Given the description of an element on the screen output the (x, y) to click on. 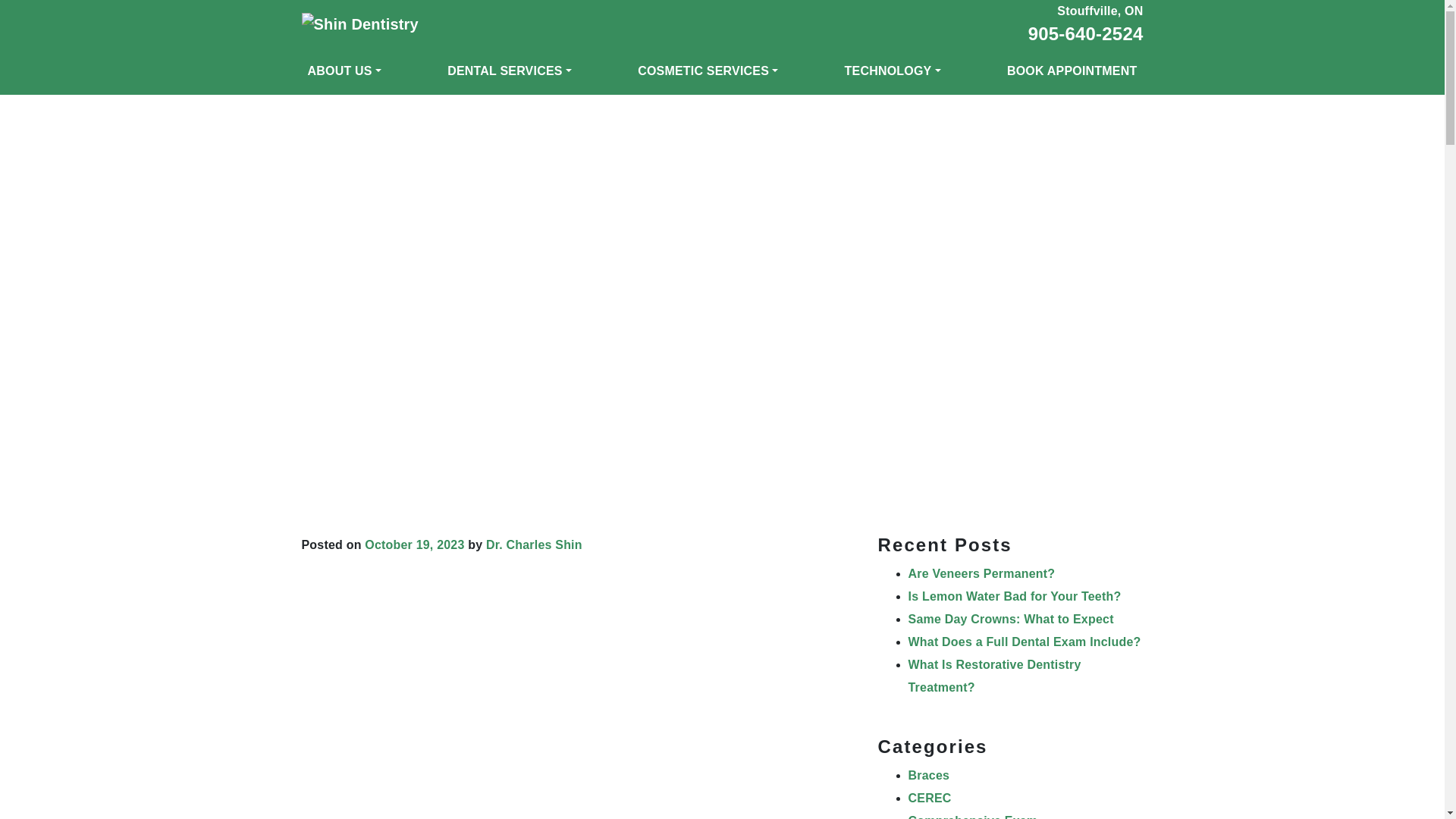
905-640-2524 (1084, 33)
Cosmetic Services (707, 71)
BOOK APPOINTMENT (1071, 71)
Dr. Charles Shin (534, 544)
ABOUT US (344, 71)
About Us (344, 71)
COSMETIC SERVICES (707, 71)
Dental Services (509, 71)
TECHNOLOGY (892, 71)
DENTAL SERVICES (509, 71)
October 19, 2023 (414, 544)
Technology (892, 71)
